Given the description of an element on the screen output the (x, y) to click on. 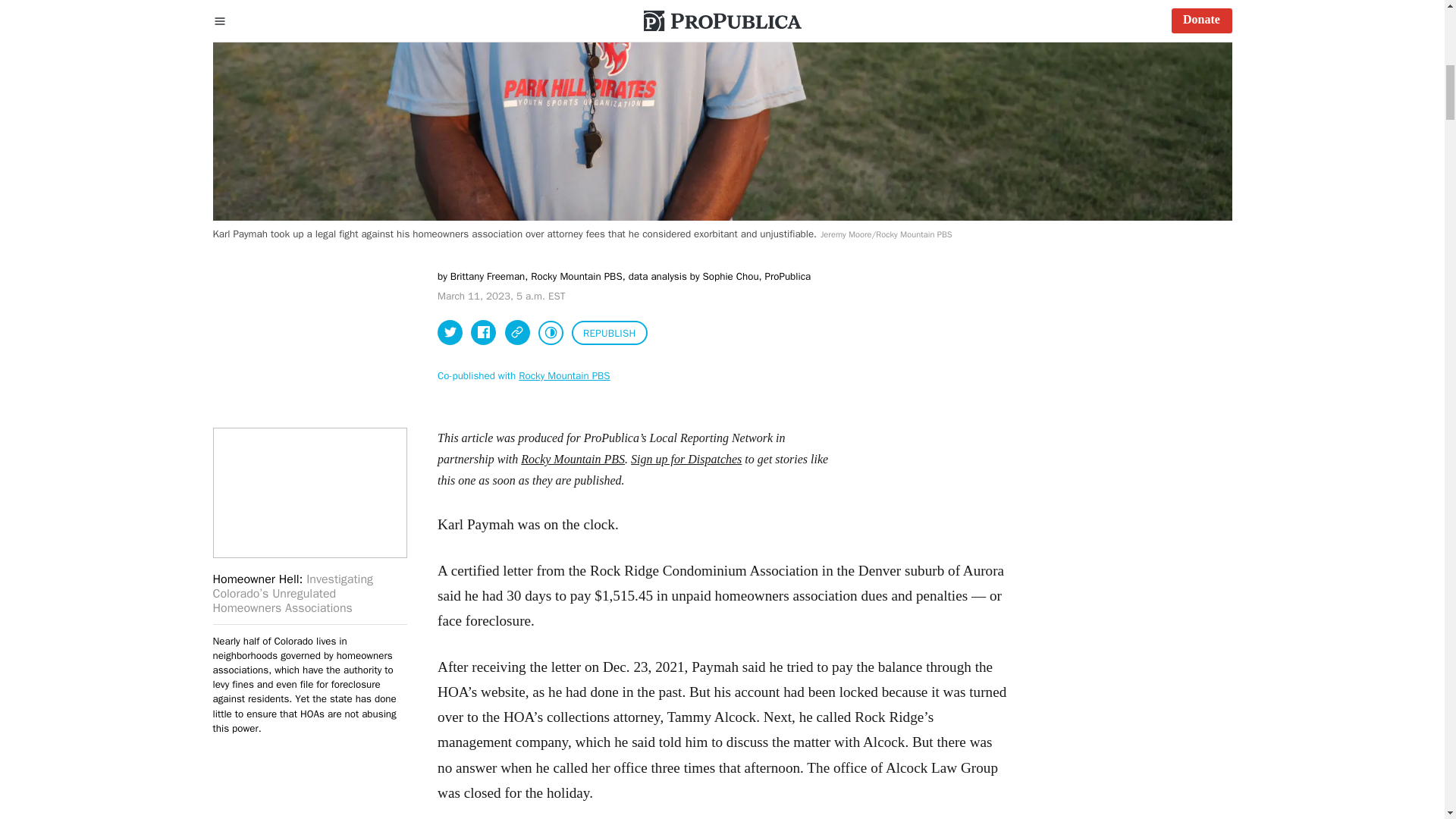
Facebook (483, 332)
Twitter (450, 332)
Rocky Mountain PBS (576, 276)
Rocky Mountain PBS (564, 375)
Sophie Chou (730, 276)
Sign up for Dispatches (685, 459)
Rocky Mountain PBS (572, 459)
REPUBLISH (609, 333)
Copy (517, 332)
